Given the description of an element on the screen output the (x, y) to click on. 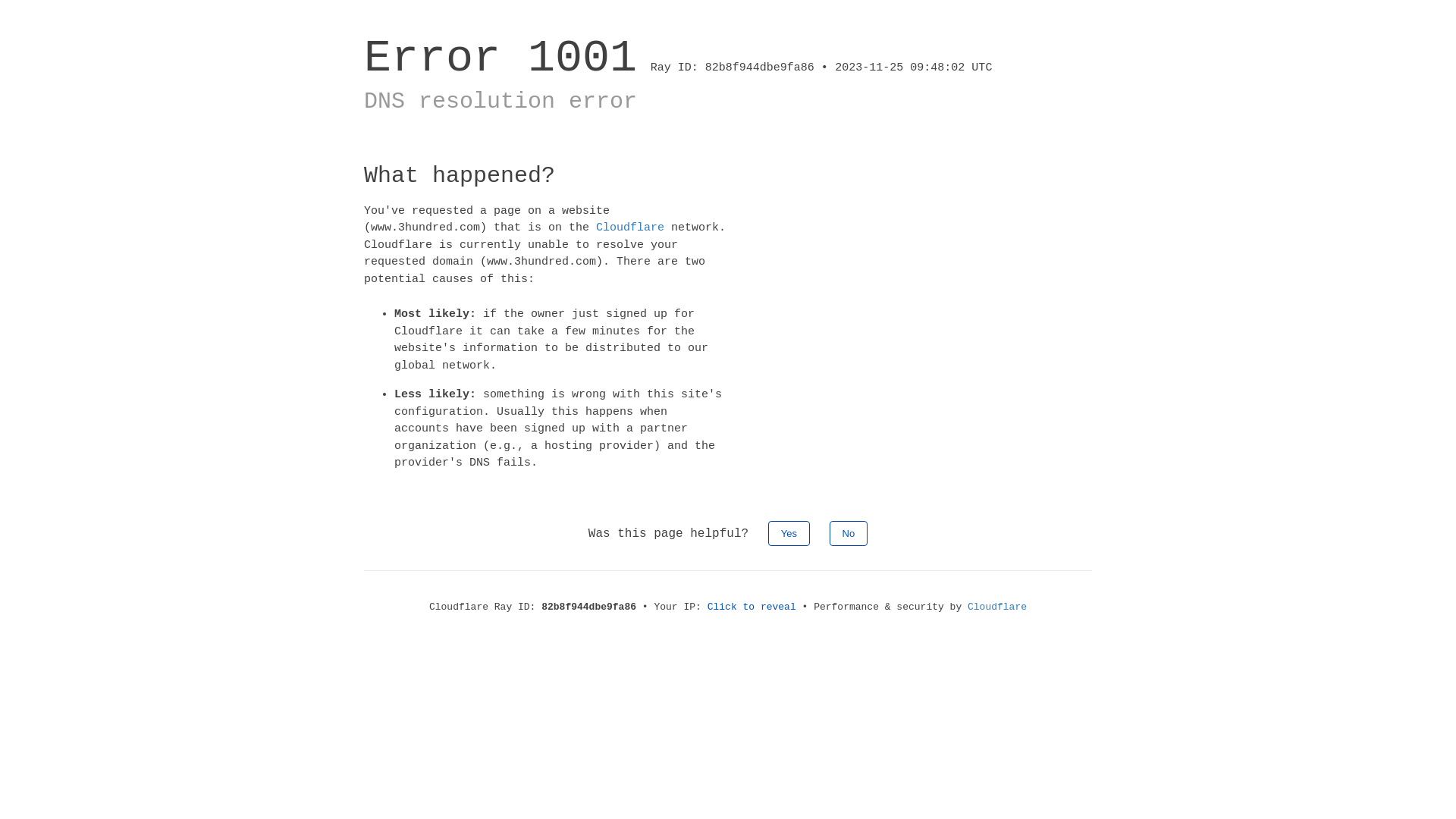
Yes Element type: text (788, 532)
No Element type: text (848, 532)
Click to reveal Element type: text (751, 605)
Cloudflare Element type: text (996, 605)
Cloudflare Element type: text (630, 227)
